Given the description of an element on the screen output the (x, y) to click on. 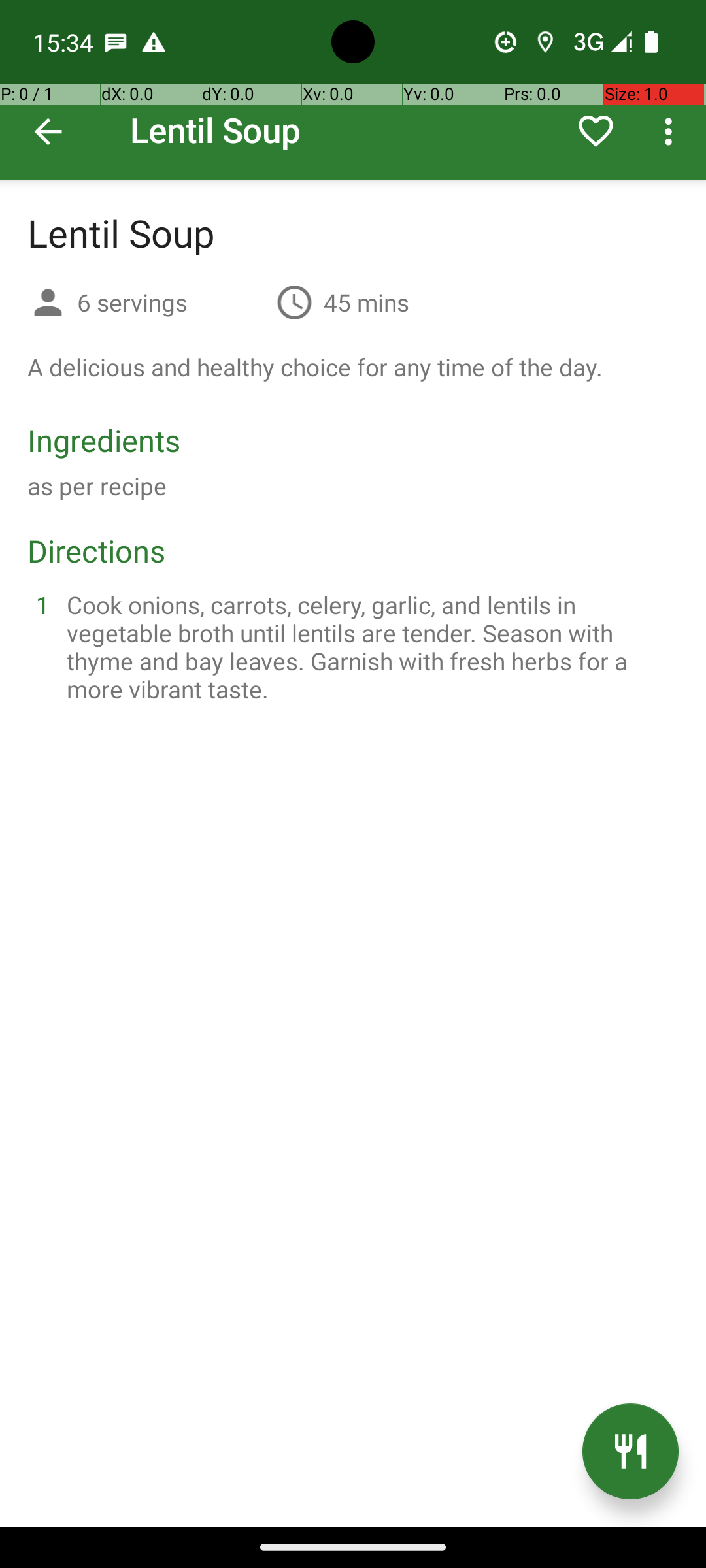
45 mins Element type: android.widget.TextView (366, 301)
as per recipe Element type: android.widget.TextView (96, 485)
Cook onions, carrots, celery, garlic, and lentils in vegetable broth until lentils are tender. Season with thyme and bay leaves. Garnish with fresh herbs for a more vibrant taste. Element type: android.widget.TextView (368, 646)
